Given the description of an element on the screen output the (x, y) to click on. 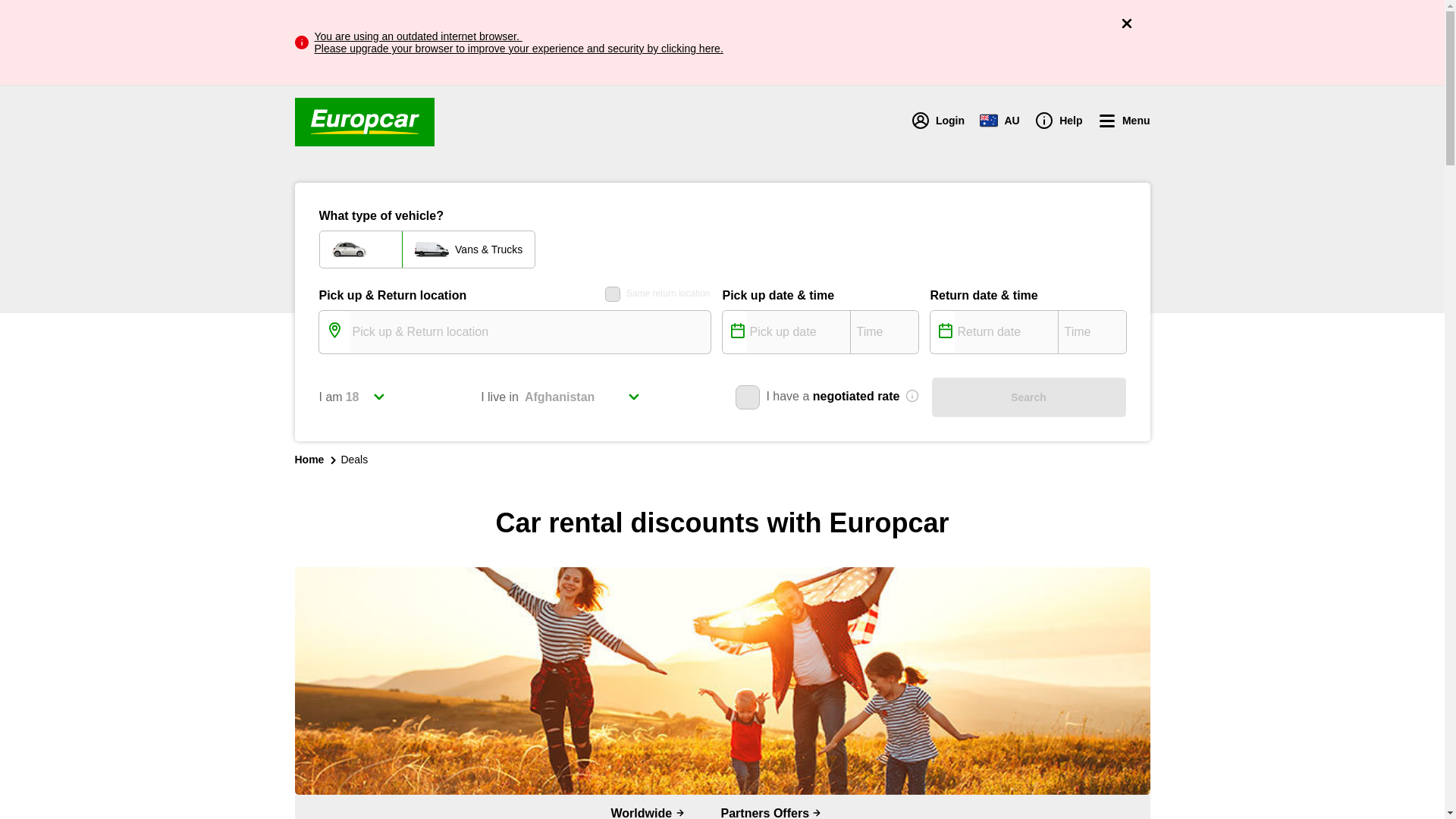
Login (937, 121)
Car (361, 248)
Search (1028, 396)
Worldwide (647, 806)
Help (1058, 121)
Home (308, 459)
AU (999, 121)
Partners Offers (771, 806)
